Given the description of an element on the screen output the (x, y) to click on. 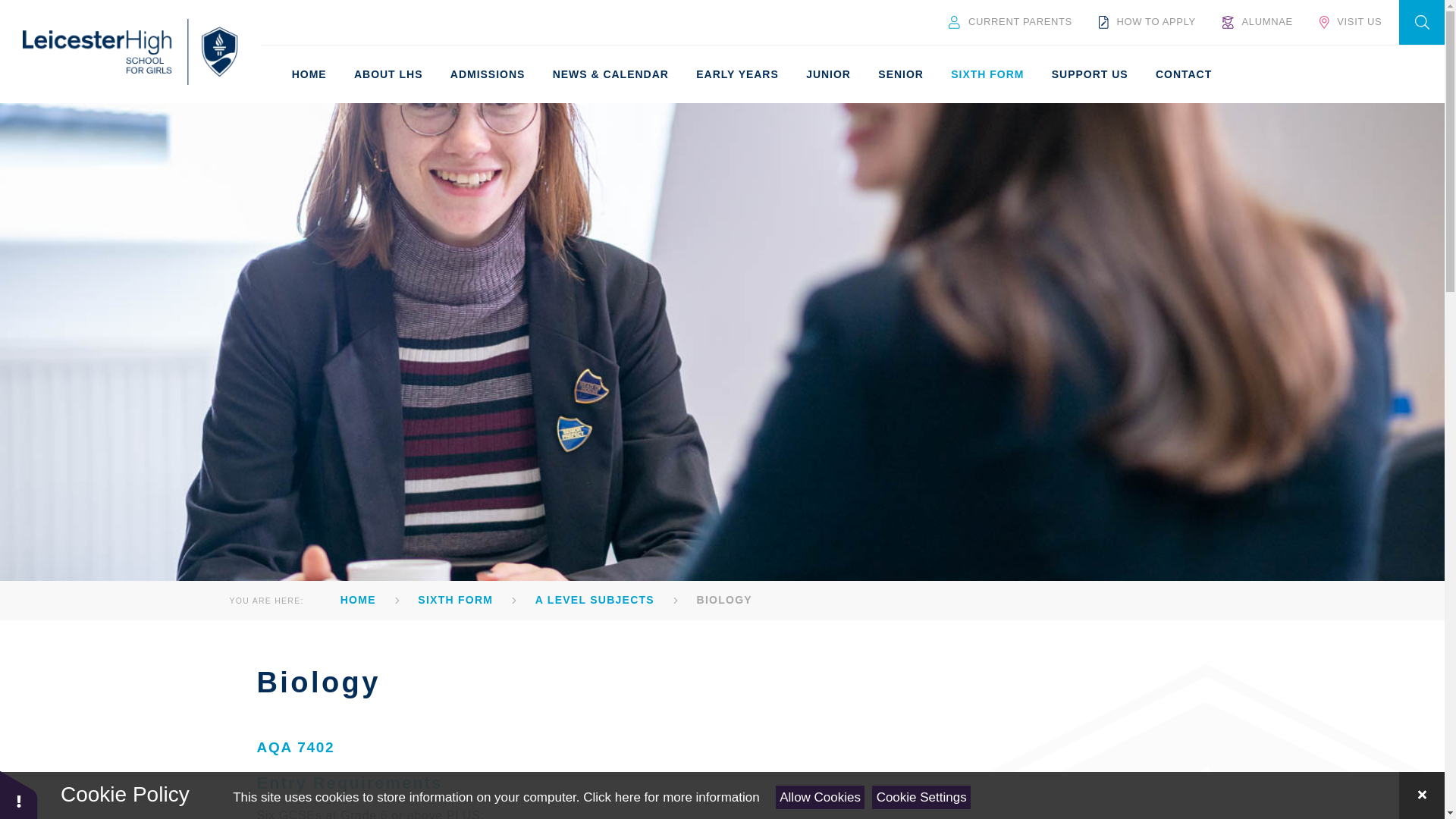
ABOUT LHS (388, 74)
Allow Cookies (820, 797)
HOME (308, 74)
Cookie Settings (921, 797)
See cookie policy (670, 797)
ADMISSIONS (487, 74)
